Given the description of an element on the screen output the (x, y) to click on. 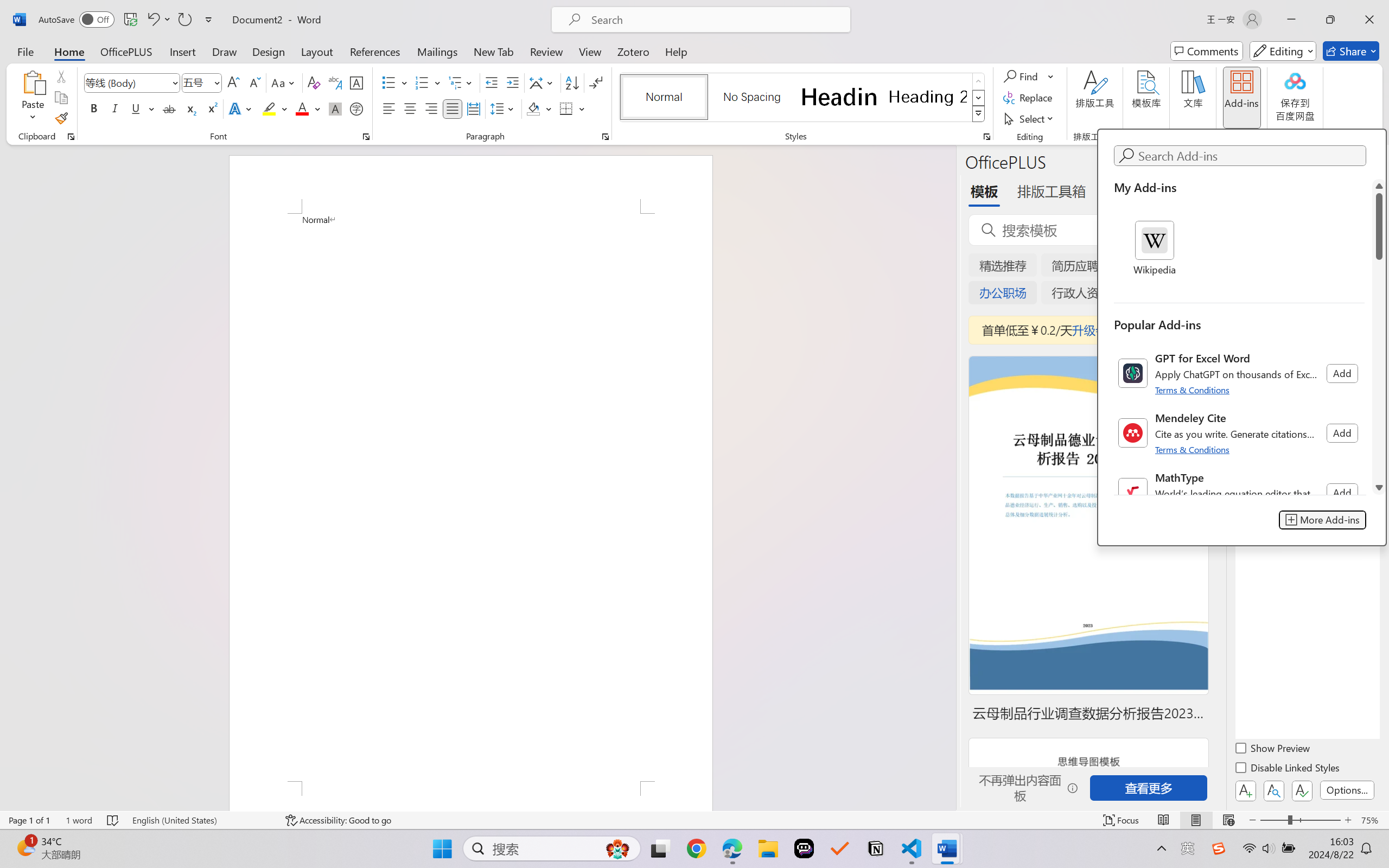
References (375, 51)
Row up (978, 81)
Replace... (1029, 97)
Search Add-ins (1249, 155)
Disable Linked Styles (1287, 769)
Wikipedia (1154, 248)
Zoom Out (1273, 819)
Mendeley Cite (1239, 432)
MathType (1239, 492)
Insert (182, 51)
New Tab (493, 51)
